Given the description of an element on the screen output the (x, y) to click on. 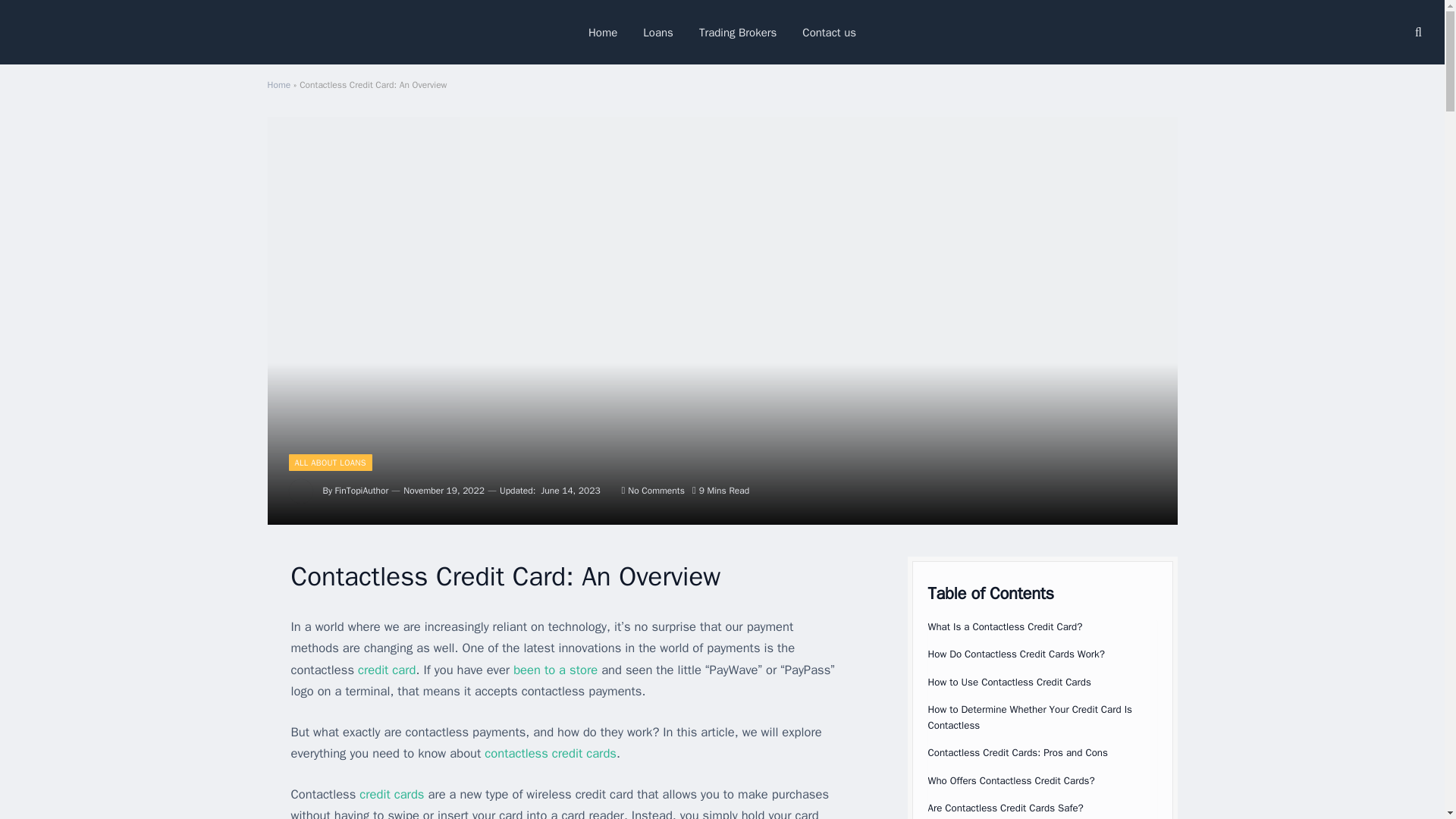
been to a store (554, 669)
Posts by FinTopiAuthor (361, 490)
FinTopiAuthor (361, 490)
Fintopi (58, 31)
contactless credit cards (549, 753)
ALL ABOUT LOANS (329, 462)
credit card (387, 669)
Home (277, 84)
been to a store (554, 669)
